Given the description of an element on the screen output the (x, y) to click on. 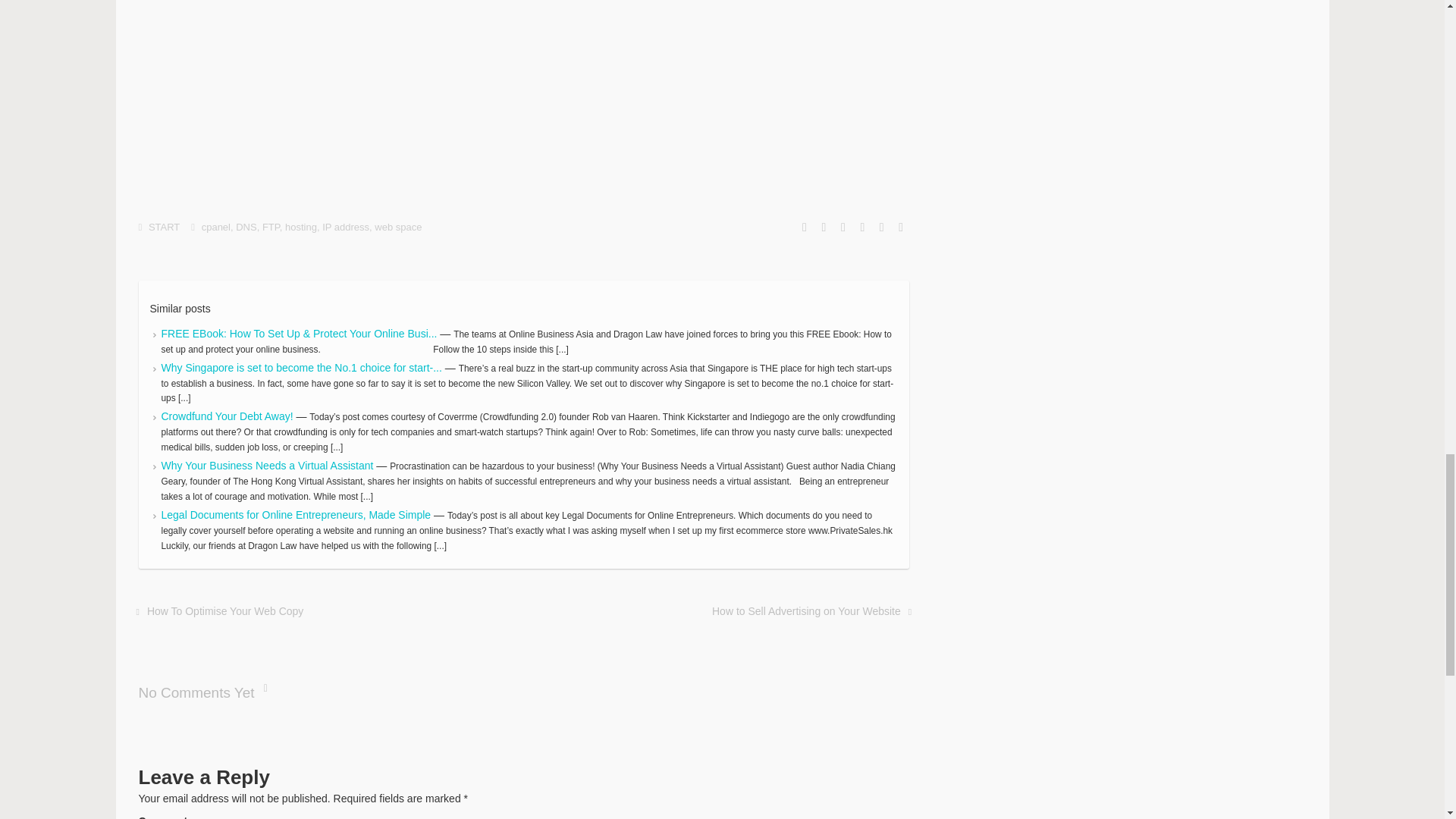
FTP (270, 226)
web space (398, 226)
cpanel (216, 226)
START (163, 226)
IP address (345, 226)
DNS (245, 226)
hosting (301, 226)
